Given the description of an element on the screen output the (x, y) to click on. 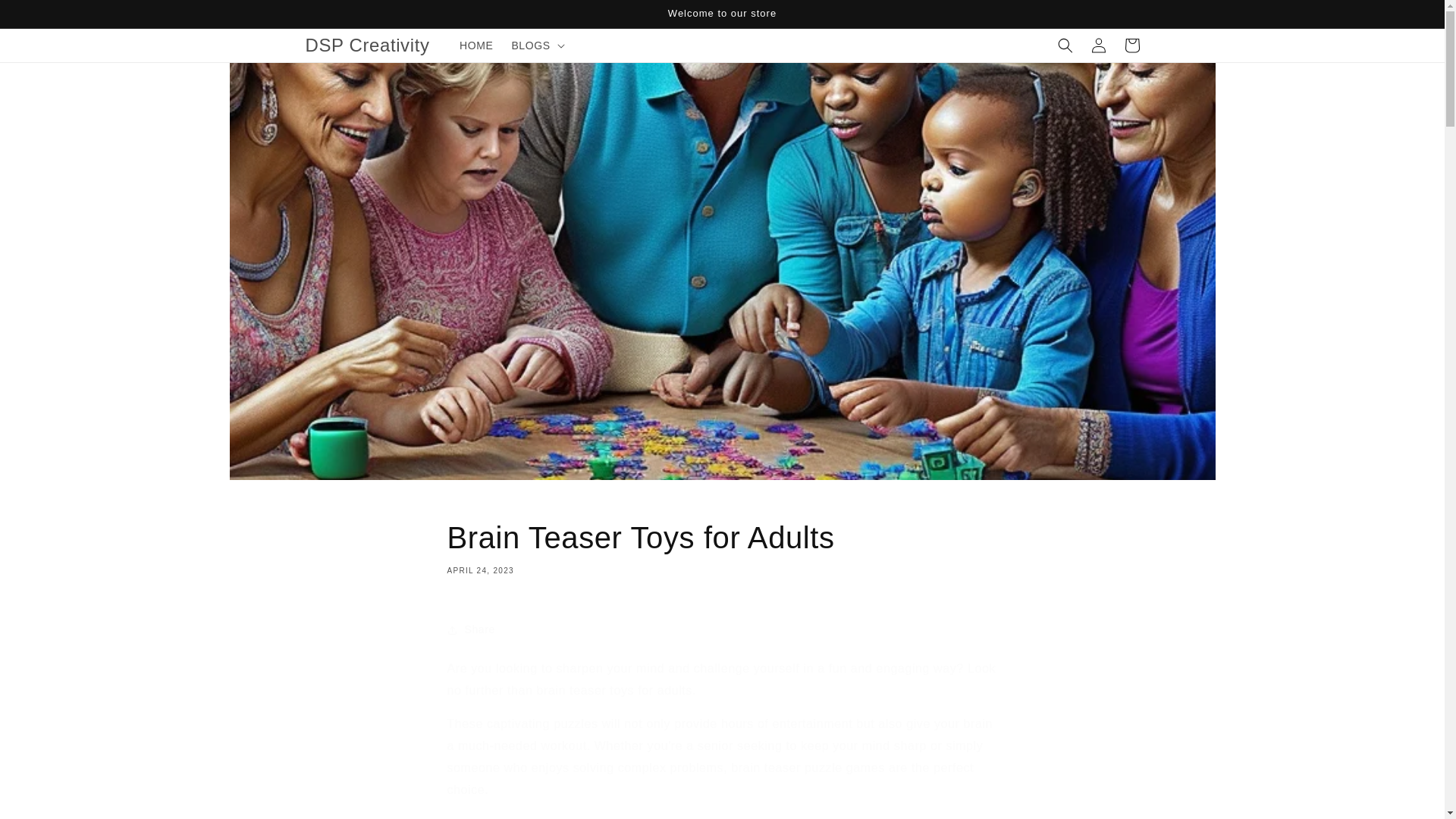
Log in (1098, 45)
Skip to content (45, 17)
Cart (721, 546)
Share (1131, 45)
DSP Creativity (721, 630)
HOME (367, 44)
